Given the description of an element on the screen output the (x, y) to click on. 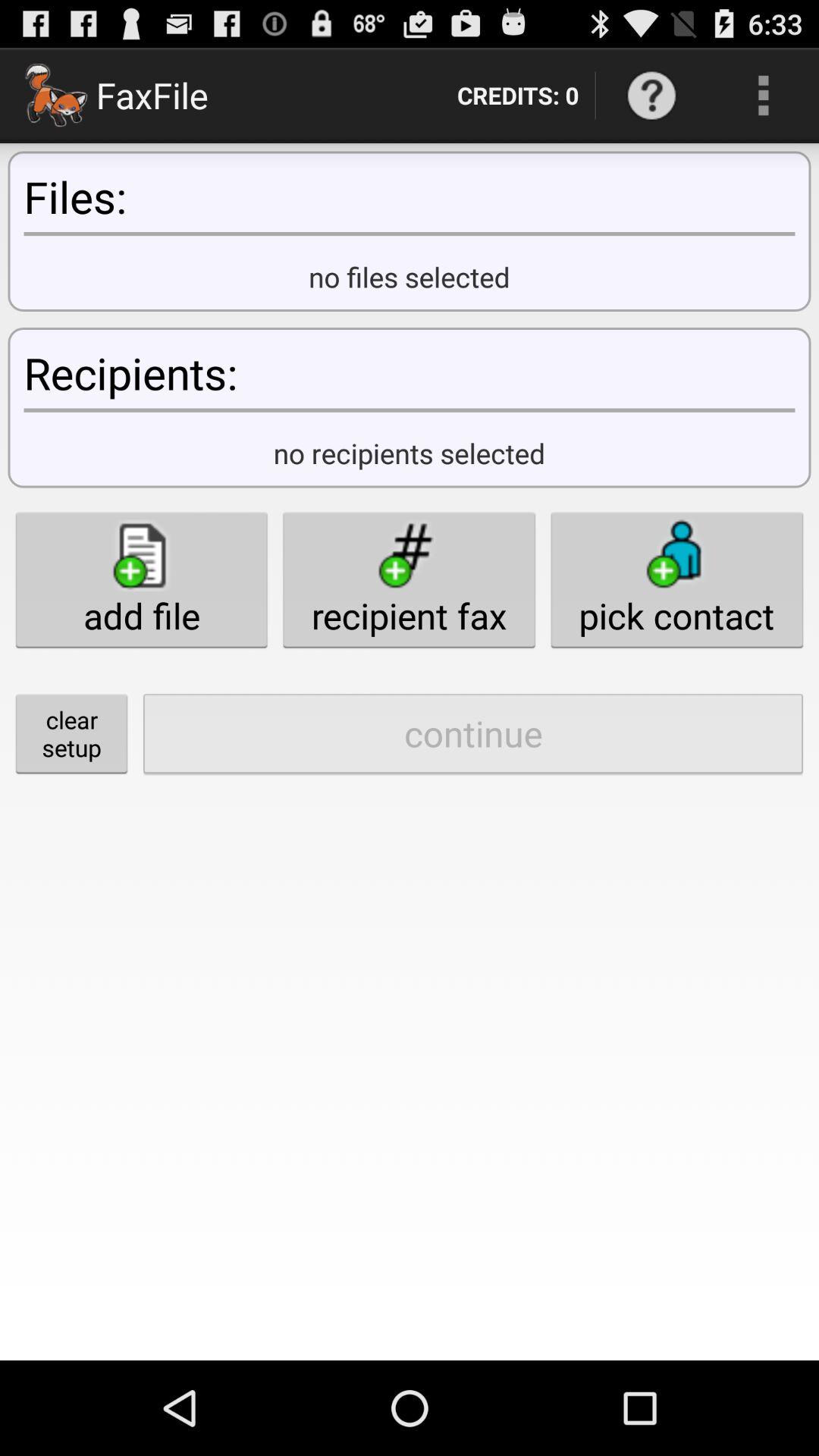
turn off item next to the clear
setup button (473, 733)
